Given the description of an element on the screen output the (x, y) to click on. 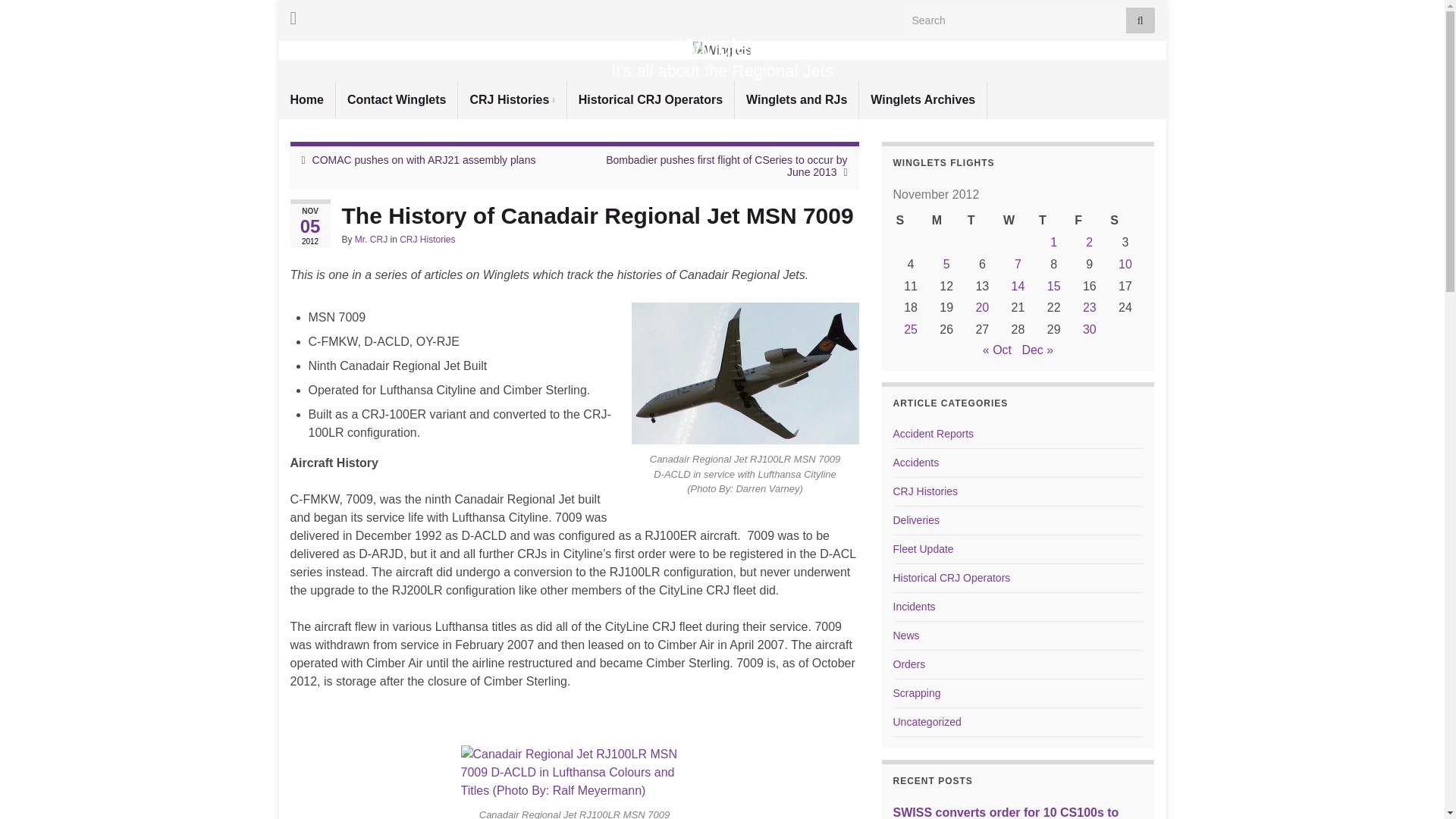
Home (306, 99)
Winglets Archives (923, 99)
Go back to the front page (722, 49)
Winglets (721, 46)
Tuesday (981, 220)
Go back to the front page (721, 46)
Mr. CRJ (371, 239)
Contact Winglets (397, 99)
Winglets (722, 50)
10 (1125, 264)
Historical CRJ Operators (650, 99)
Monday (945, 220)
Wednesday (1017, 220)
